Given the description of an element on the screen output the (x, y) to click on. 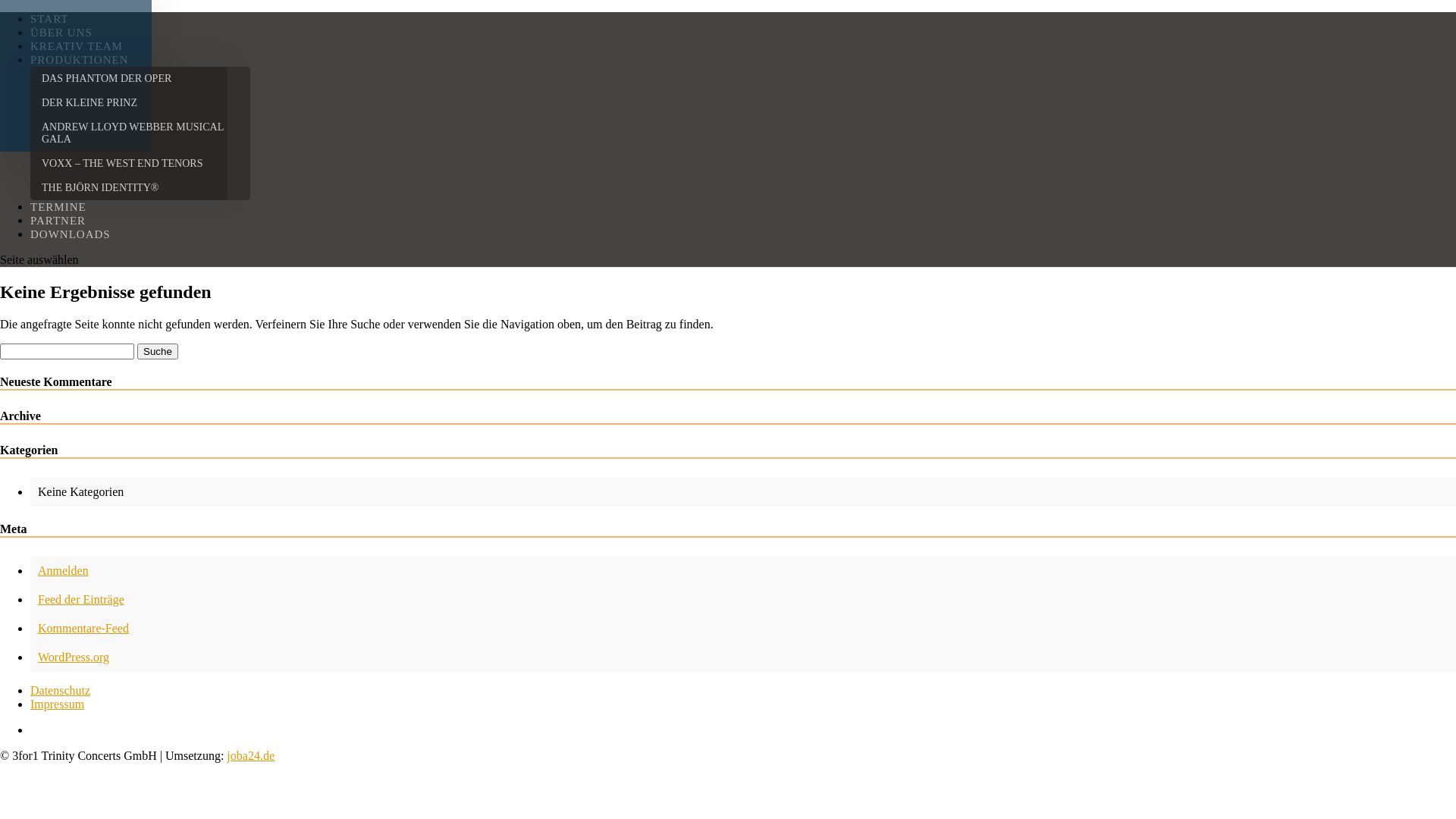
ANDREW LLOYD WEBBER MUSICAL GALA Element type: text (140, 133)
Impressum Element type: text (57, 703)
PRODUKTIONEN Element type: text (79, 59)
KREATIV TEAM Element type: text (76, 46)
DER KLEINE PRINZ Element type: text (140, 103)
START Element type: text (49, 18)
DOWNLOADS Element type: text (70, 234)
Anmelden Element type: text (62, 570)
Datenschutz Element type: text (60, 690)
TERMINE Element type: text (58, 206)
DAS PHANTOM DER OPER Element type: text (140, 78)
PARTNER Element type: text (57, 220)
Suche Element type: text (157, 351)
Kommentare-Feed Element type: text (82, 627)
WordPress.org Element type: text (73, 656)
joba24.de Element type: text (250, 755)
